Given the description of an element on the screen output the (x, y) to click on. 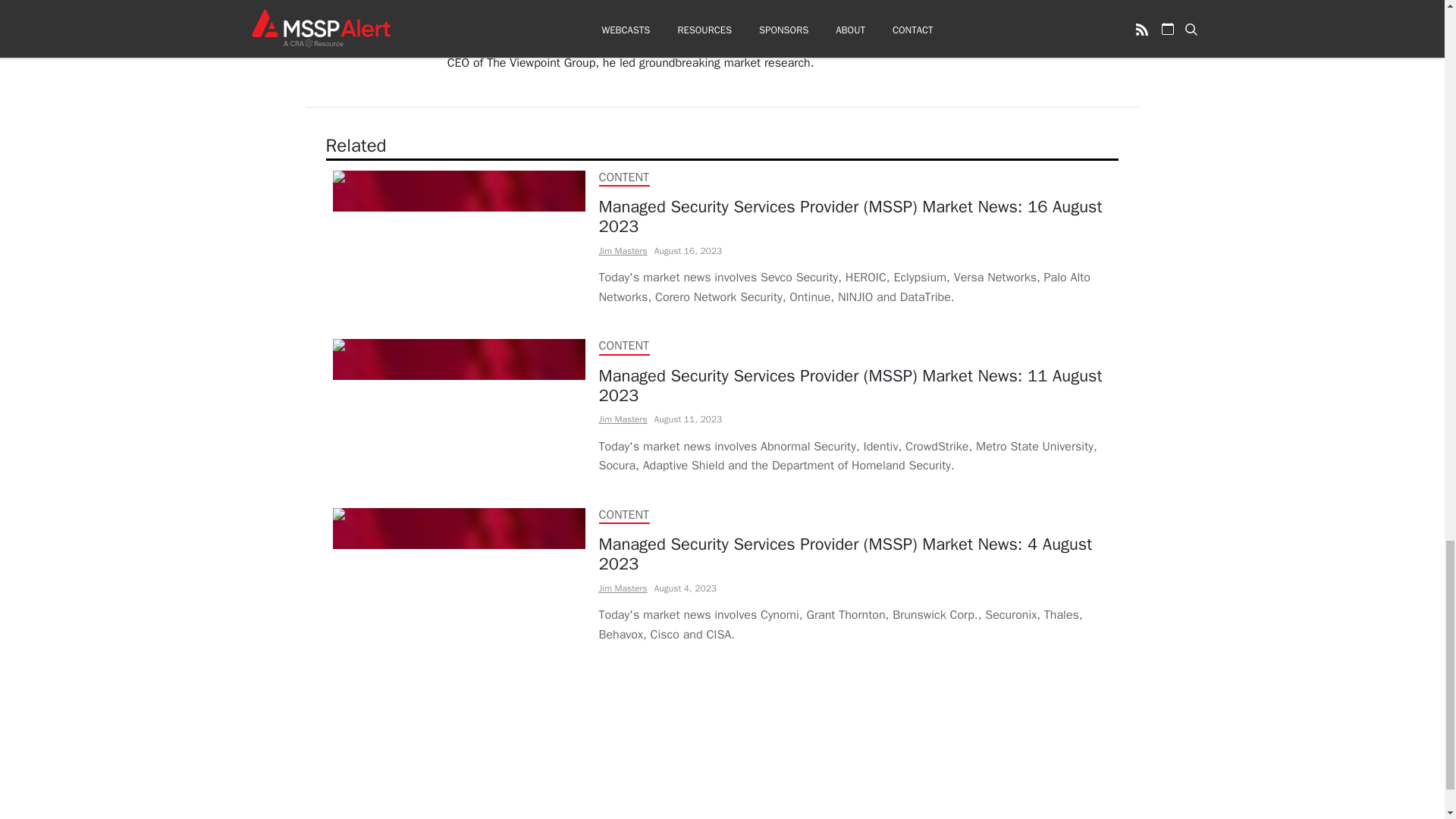
CONTENT (623, 514)
CONTENT (623, 345)
Jim Masters (622, 250)
CONTENT (623, 177)
Jim Masters (622, 588)
Jim Masters (622, 419)
D. Howard Kass (489, 6)
